Given the description of an element on the screen output the (x, y) to click on. 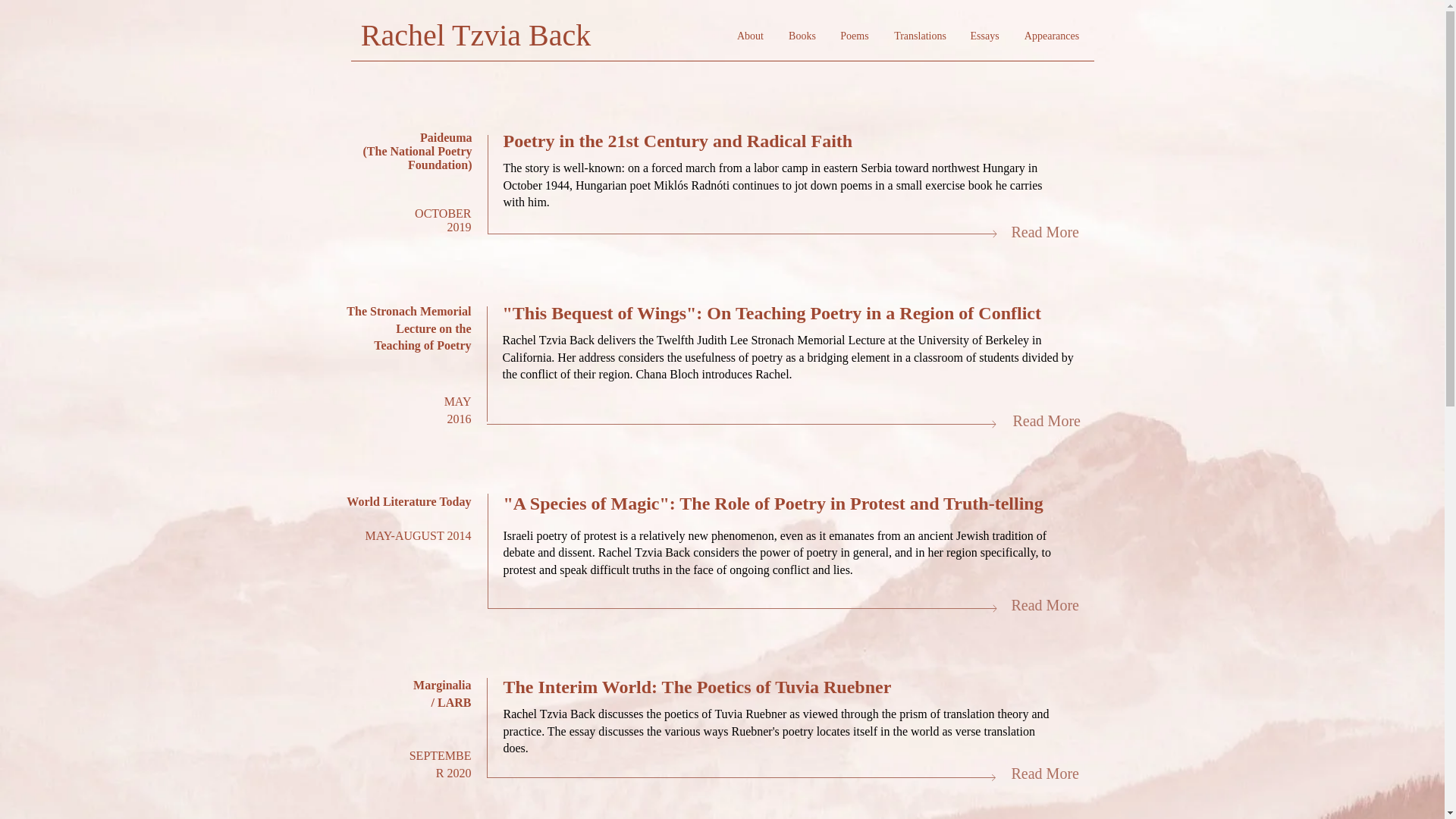
Read More (1044, 773)
Books (801, 35)
Read More (1044, 605)
Read More (1044, 231)
Rachel Tzvia Back (476, 35)
Poems (855, 35)
About (749, 35)
Translations (919, 35)
Read More (1046, 420)
